Given the description of an element on the screen output the (x, y) to click on. 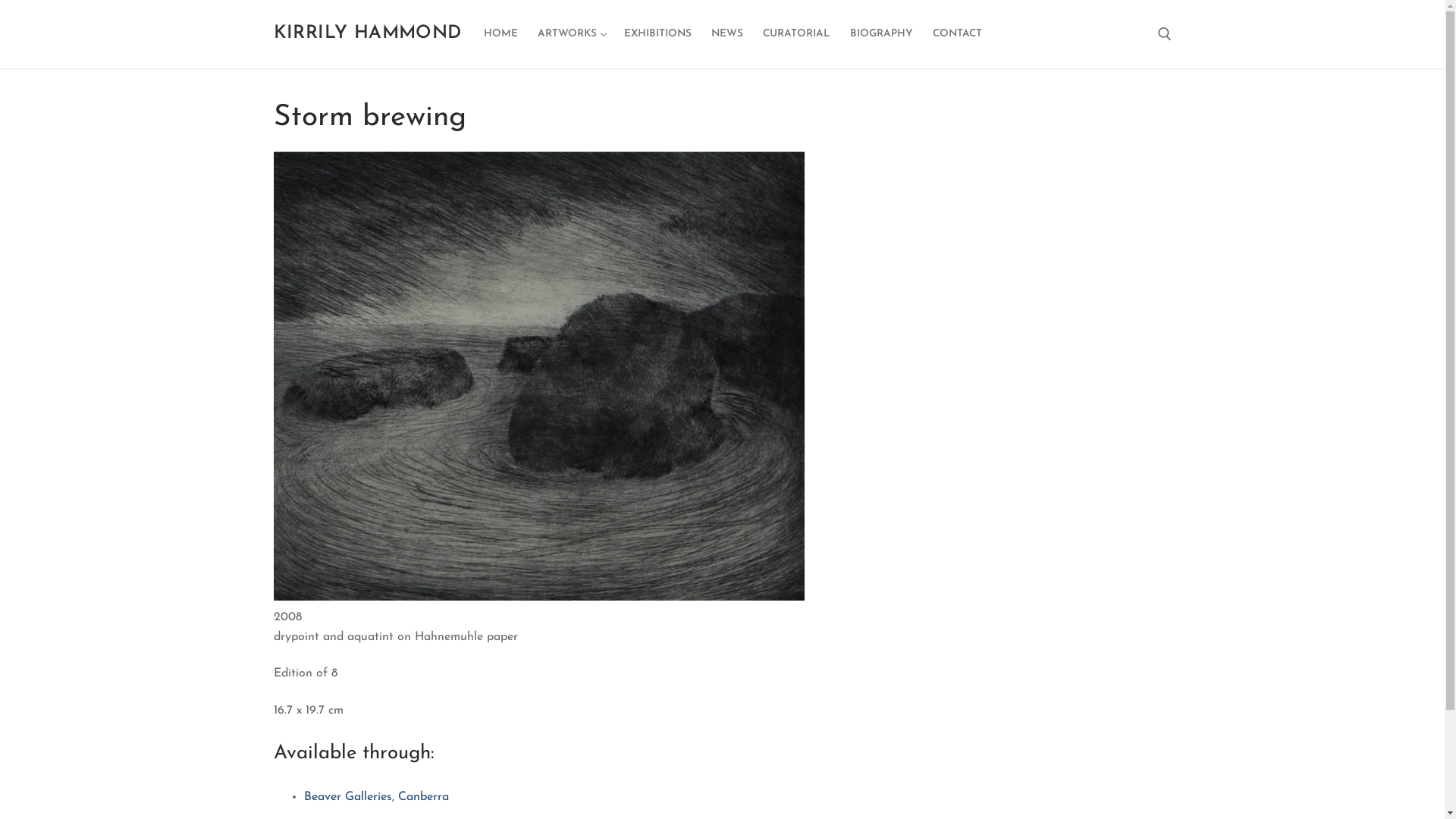
Beaver Galleries, Canberra Element type: text (375, 796)
EXHIBITIONS Element type: text (657, 33)
KIRRILY HAMMOND Element type: text (367, 33)
CONTACT Element type: text (956, 33)
ARTWORKS
  Element type: text (570, 33)
NEWS Element type: text (726, 33)
BIOGRAPHY Element type: text (881, 33)
HOME Element type: text (500, 33)
CURATORIAL Element type: text (795, 33)
